Given the description of an element on the screen output the (x, y) to click on. 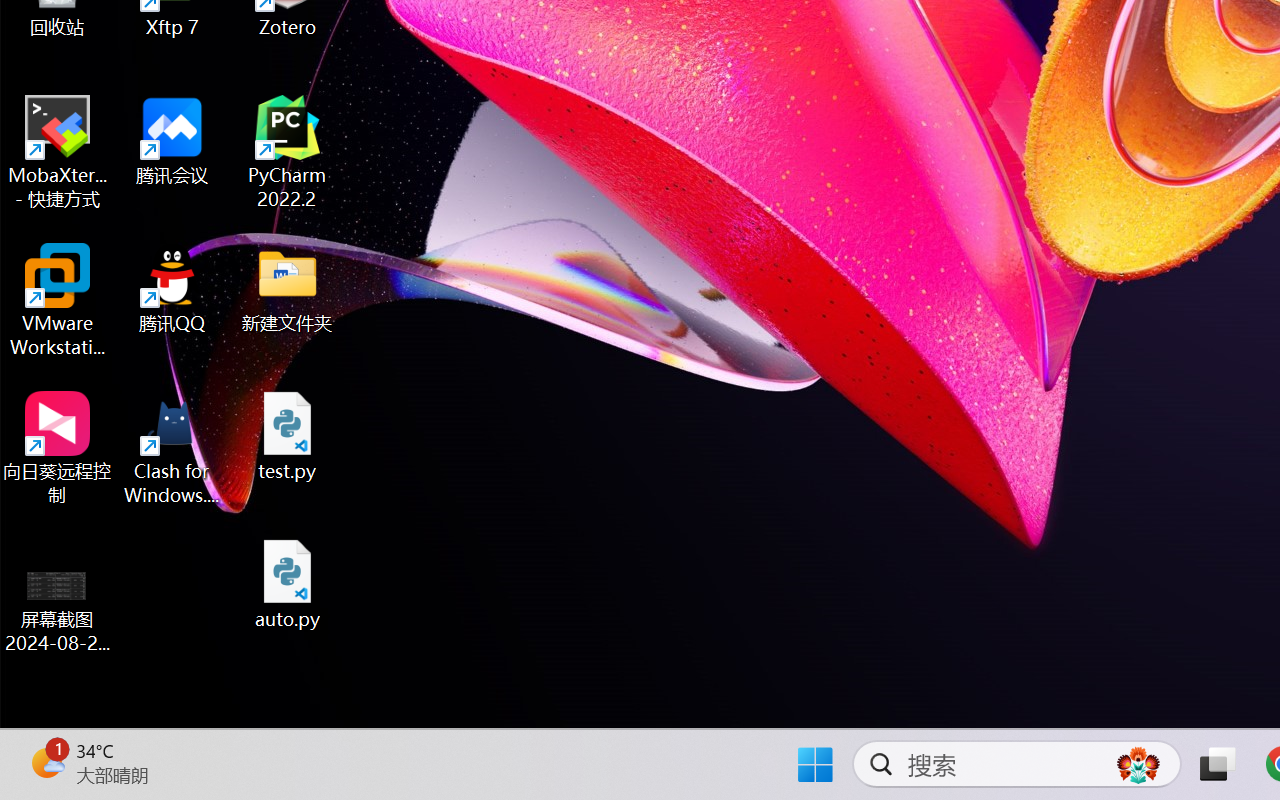
PyCharm 2022.2 (287, 152)
auto.py (287, 584)
VMware Workstation Pro (57, 300)
test.py (287, 436)
